Given the description of an element on the screen output the (x, y) to click on. 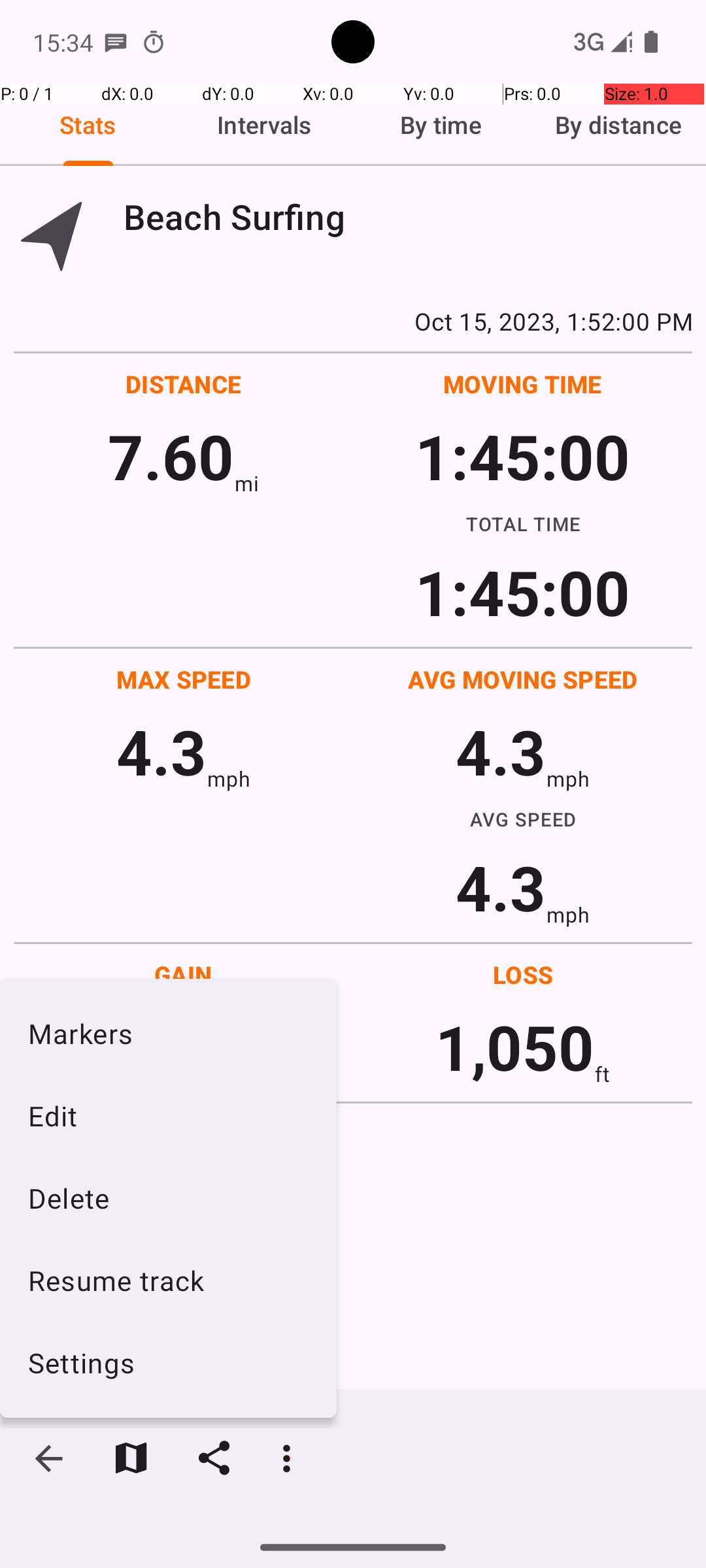
Resume track Element type: android.widget.TextView (168, 1279)
